Given the description of an element on the screen output the (x, y) to click on. 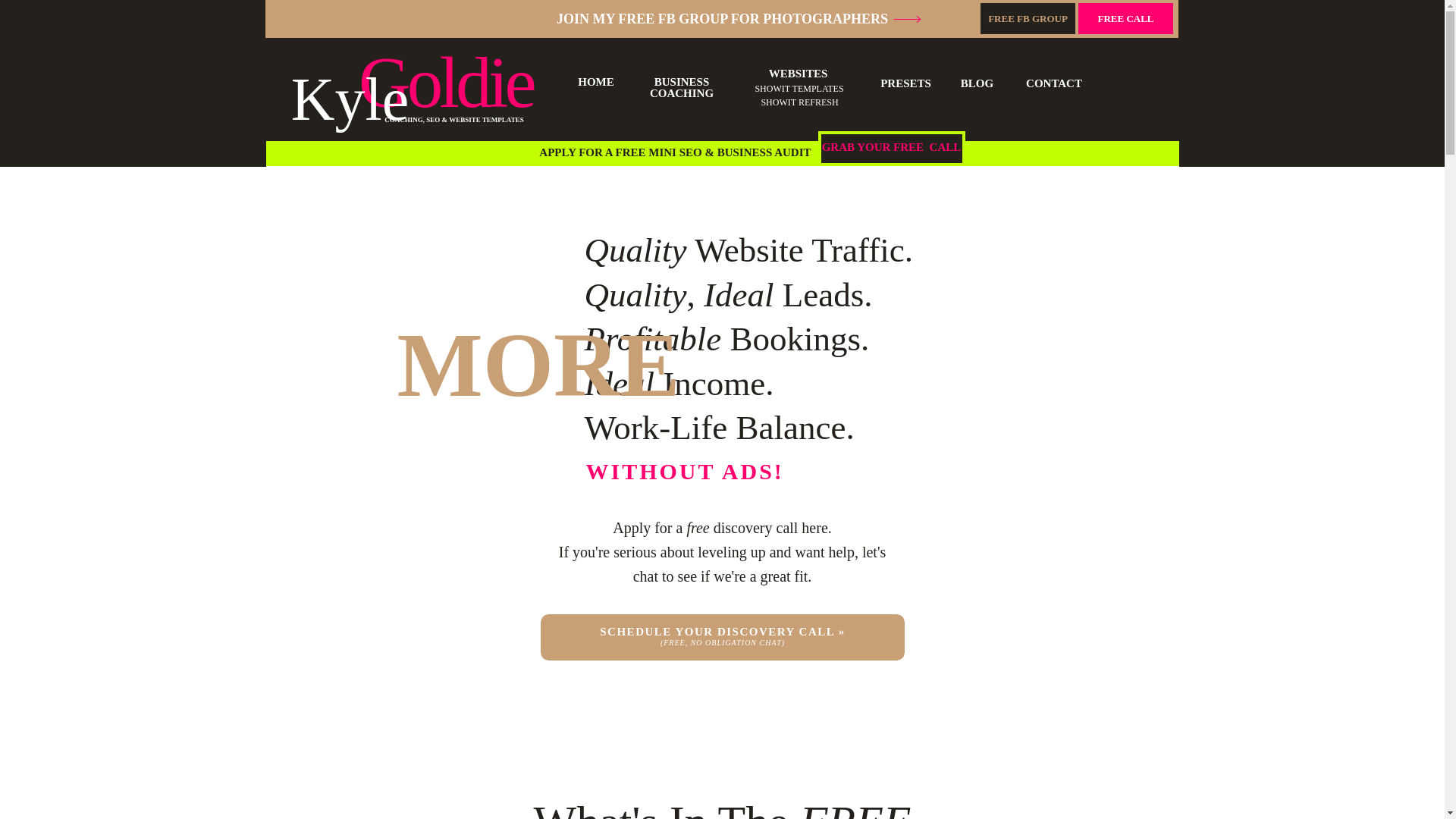
FREE FB GROUP (1028, 18)
FREE CALL (1125, 18)
SHOWIT TEMPLATES (798, 89)
WEBSITES (798, 73)
JOIN MY FREE FB GROUP FOR PHOTOGRAPHERS (722, 19)
PRESETS (905, 83)
CONTACT (1053, 85)
HOME (596, 81)
BUSINESS COACHING (681, 89)
SHOWIT REFRESH (799, 102)
BLOG (976, 84)
GRAB YOUR FREE  CALL (889, 148)
